Given the description of an element on the screen output the (x, y) to click on. 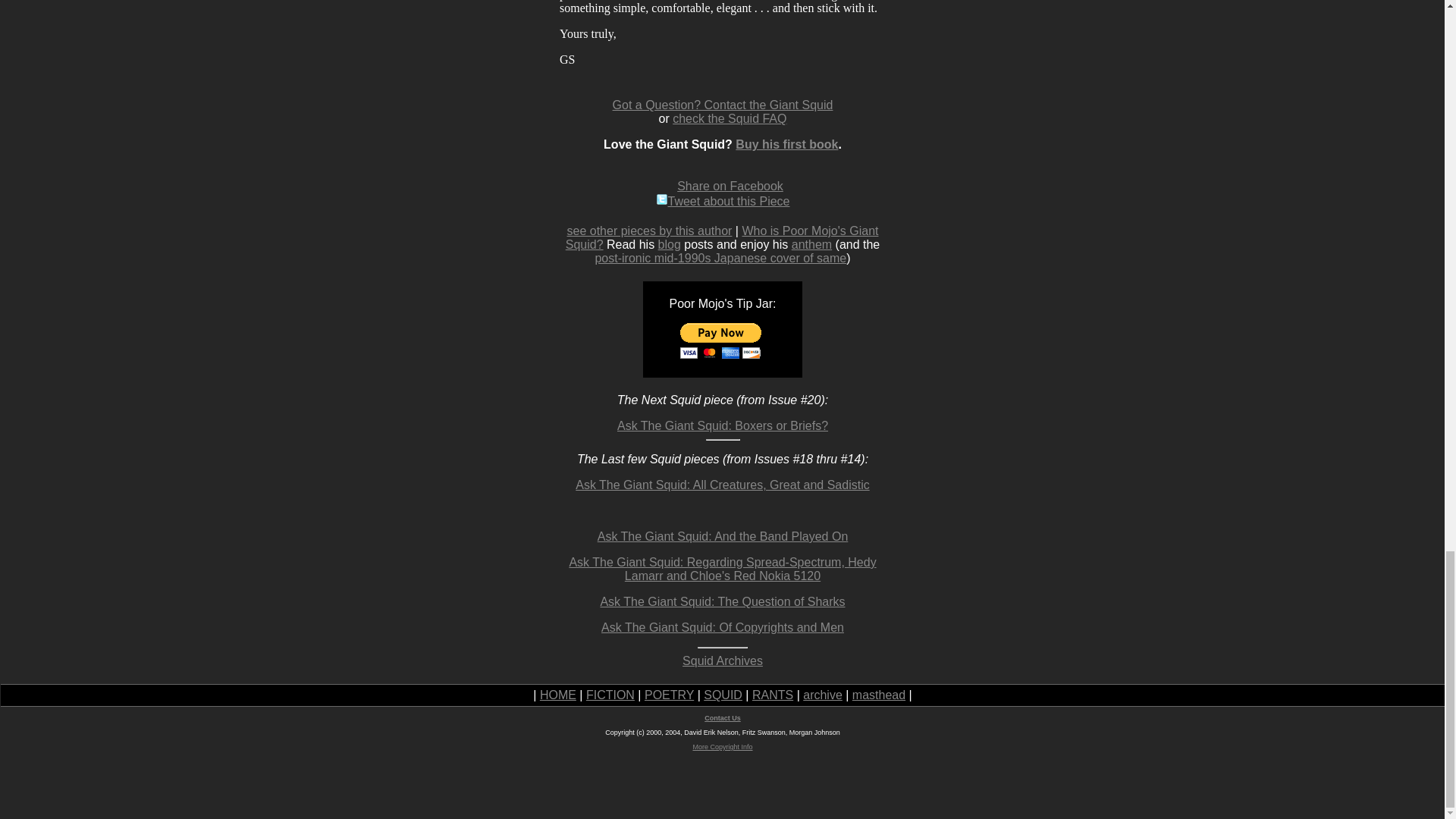
Ask The Giant Squid: Boxers or Briefs? (722, 425)
SQUID (722, 694)
RANTS (772, 694)
More Copyright Info (722, 746)
POETRY (669, 694)
HOME (558, 694)
Ask The Giant Squid: All Creatures, Great and Sadistic (722, 484)
archive (823, 694)
check the Squid FAQ (729, 118)
FICTION (610, 694)
Ask The Giant Squid: Of Copyrights and Men (722, 626)
Contact Us (722, 717)
Got a Question? Contact the Giant Squid (722, 104)
Ask The Giant Squid: The Question of Sharks (721, 601)
see other pieces by this author (649, 230)
